Given the description of an element on the screen output the (x, y) to click on. 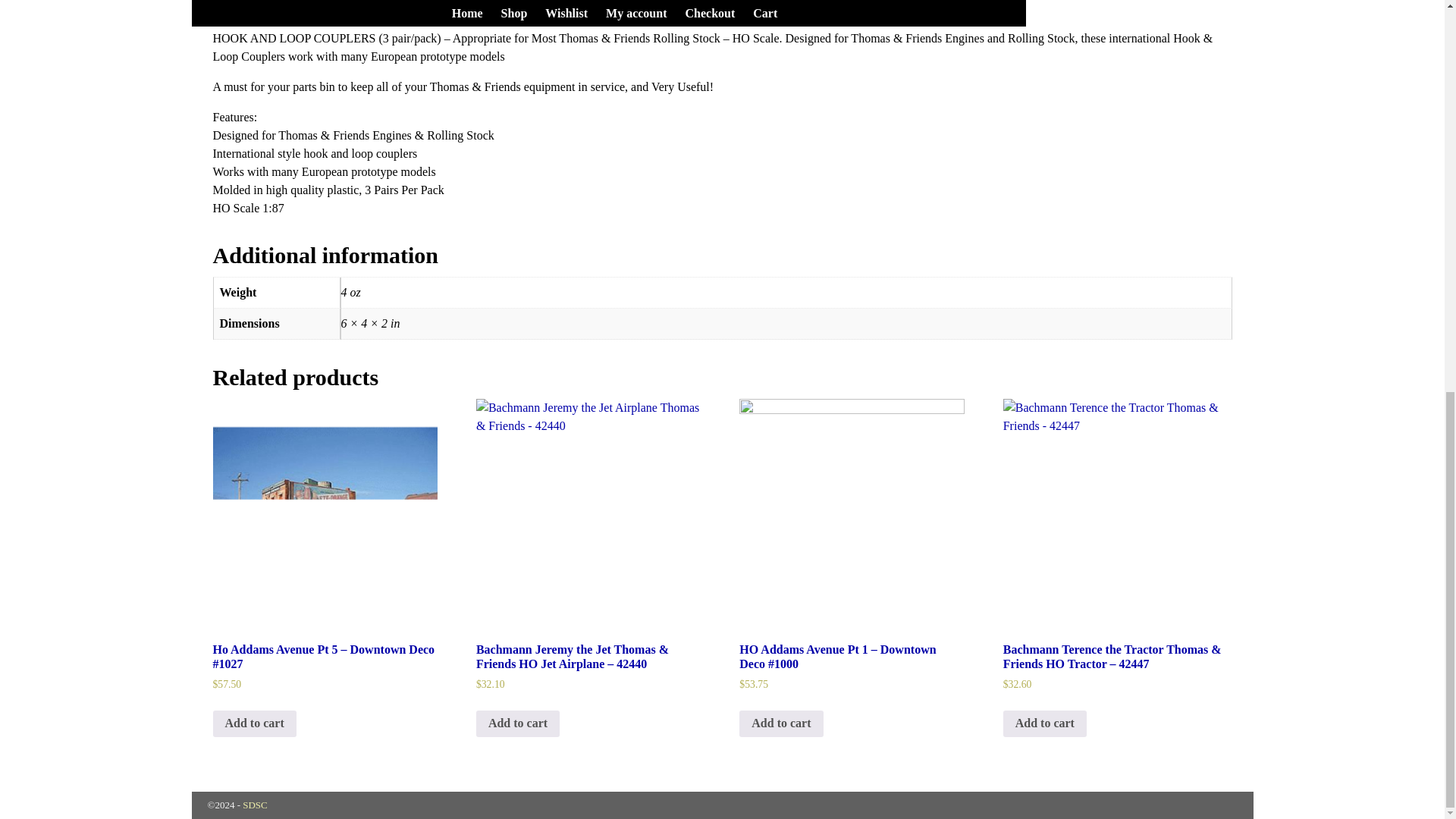
SDSC (255, 804)
SDSC (255, 804)
Add to cart (517, 723)
Add to cart (1044, 723)
Add to cart (253, 723)
Add to cart (780, 723)
